Given the description of an element on the screen output the (x, y) to click on. 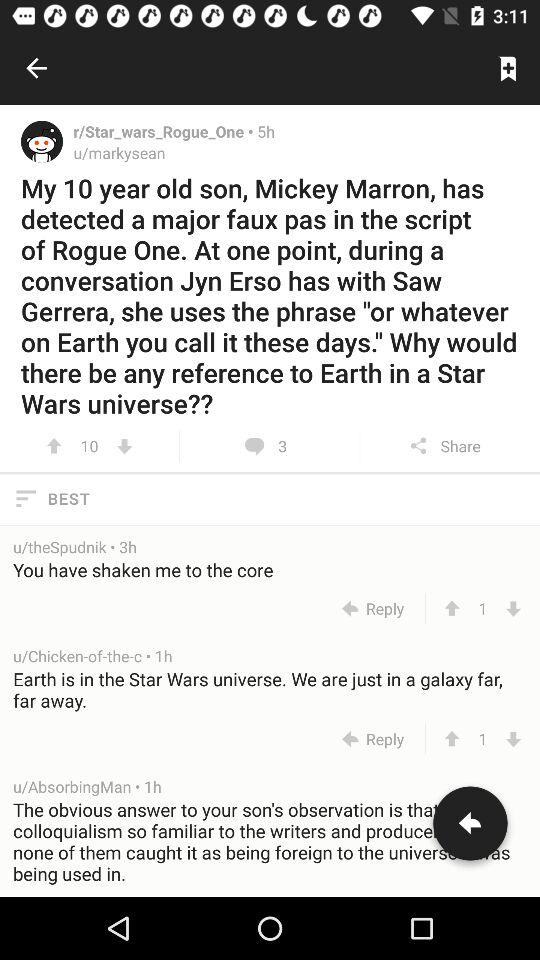
downvote comment (513, 608)
